Given the description of an element on the screen output the (x, y) to click on. 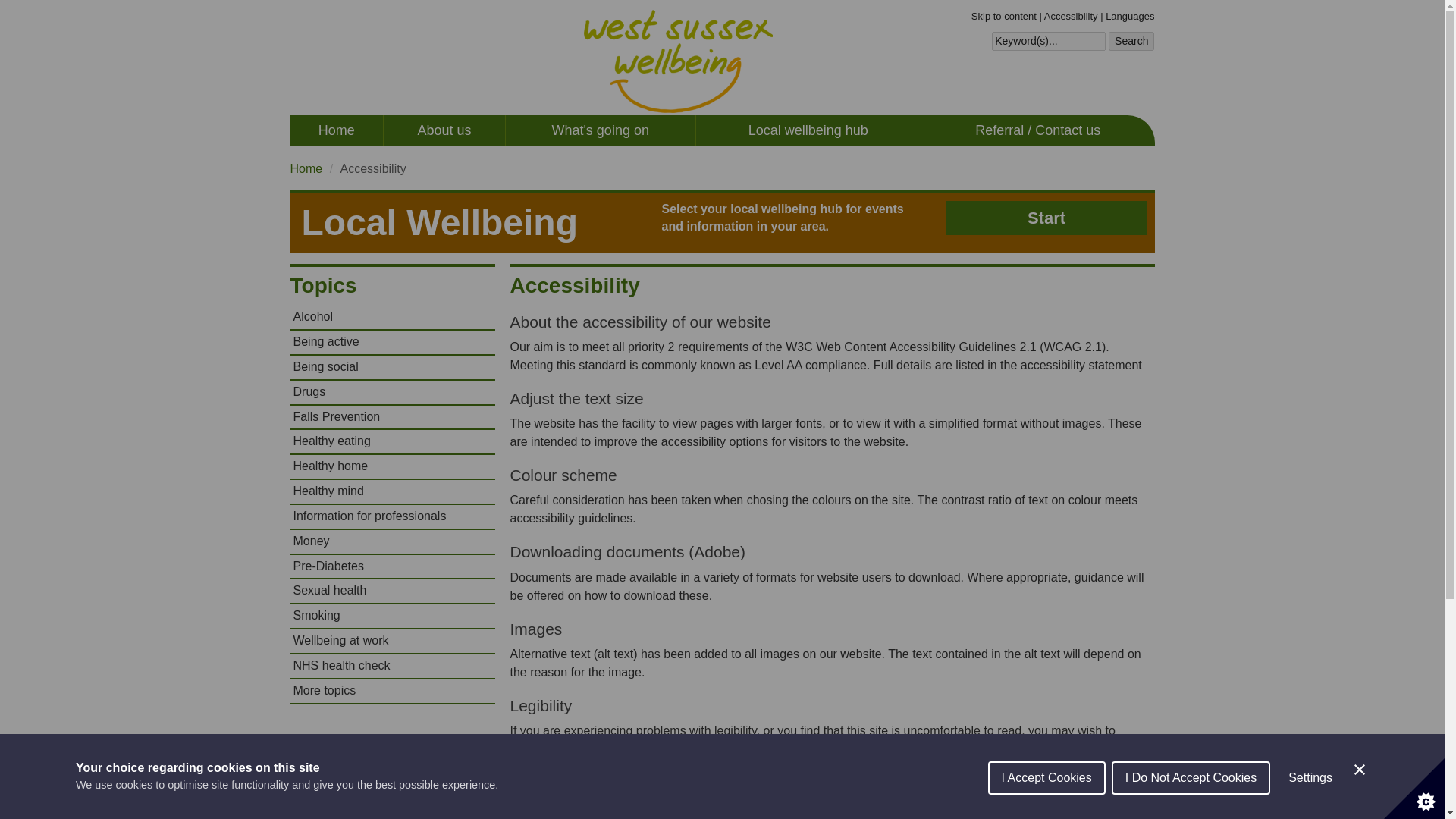
Settings (1309, 779)
Local wellbeing hub (807, 130)
Home (305, 168)
Alcohol (392, 317)
Search (1131, 41)
Home (335, 130)
Skip to content (1003, 16)
About us (444, 130)
I Do Not Accept Cookies (1190, 782)
Start (1045, 217)
Search (1131, 41)
Languages (1129, 16)
What's going on (600, 130)
Accessibility (1070, 16)
Being active (392, 341)
